Given the description of an element on the screen output the (x, y) to click on. 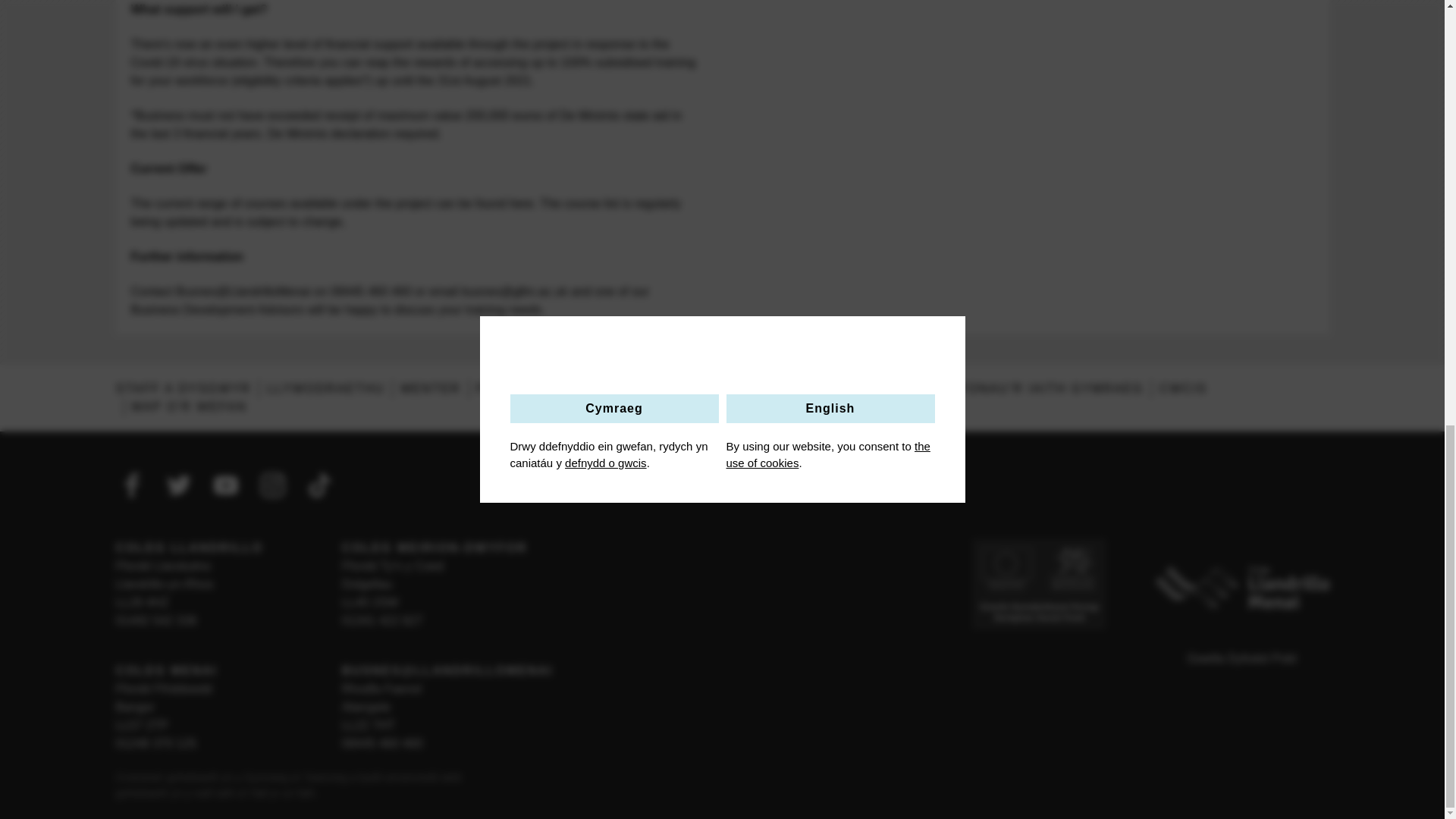
CYDRADDOLDEB (619, 388)
CWCIS (1182, 388)
HYGYRCHEDD (874, 388)
MAP O'R WEFAN (189, 406)
MENTER (430, 388)
PREIFATRWYDD (751, 388)
STAFF A DYSGWYR (182, 388)
LLYWODRAETHU (325, 388)
